Given the description of an element on the screen output the (x, y) to click on. 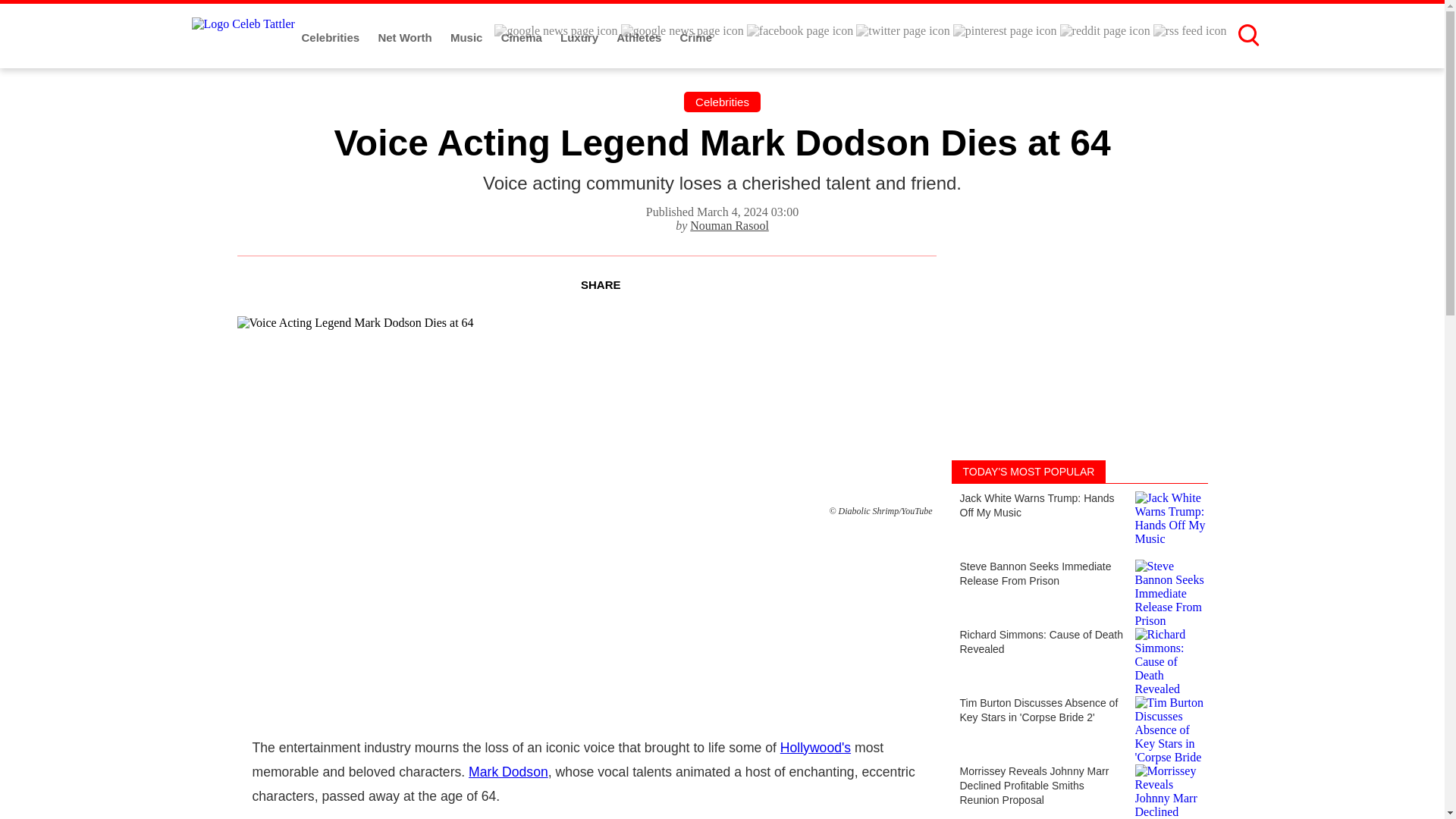
Athletes (639, 37)
Nouman Rasool (729, 225)
Celebrities (331, 37)
Celebrities (722, 101)
Luxury (580, 37)
Crime (696, 37)
Mark Dodson (508, 771)
Net Worth (406, 37)
Hollywood's (815, 747)
Cinema (522, 37)
